Given the description of an element on the screen output the (x, y) to click on. 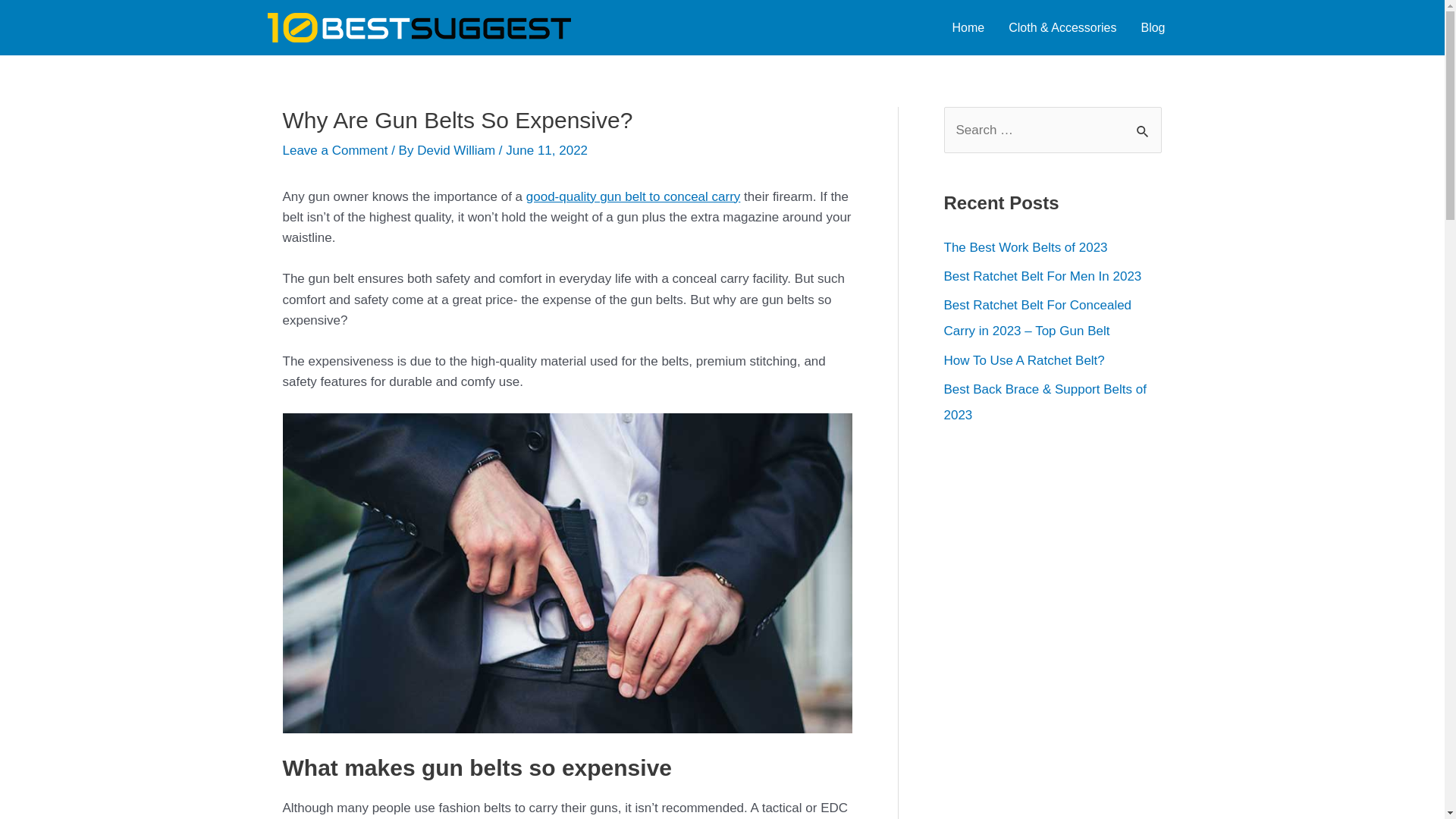
Search Element type: text (1143, 122)
good-quality gun belt to conceal carry Element type: text (633, 196)
Devid William Element type: text (457, 150)
Best Back Brace & Support Belts of 2023 Element type: text (1044, 402)
Blog Element type: text (1152, 27)
Home Element type: text (968, 27)
The Best Work Belts of 2023 Element type: text (1025, 247)
Cloth & Accessories Element type: text (1062, 27)
Leave a Comment Element type: text (334, 150)
How To Use A Ratchet Belt? Element type: text (1023, 360)
Best Ratchet Belt For Men In 2023 Element type: text (1042, 276)
